Given the description of an element on the screen output the (x, y) to click on. 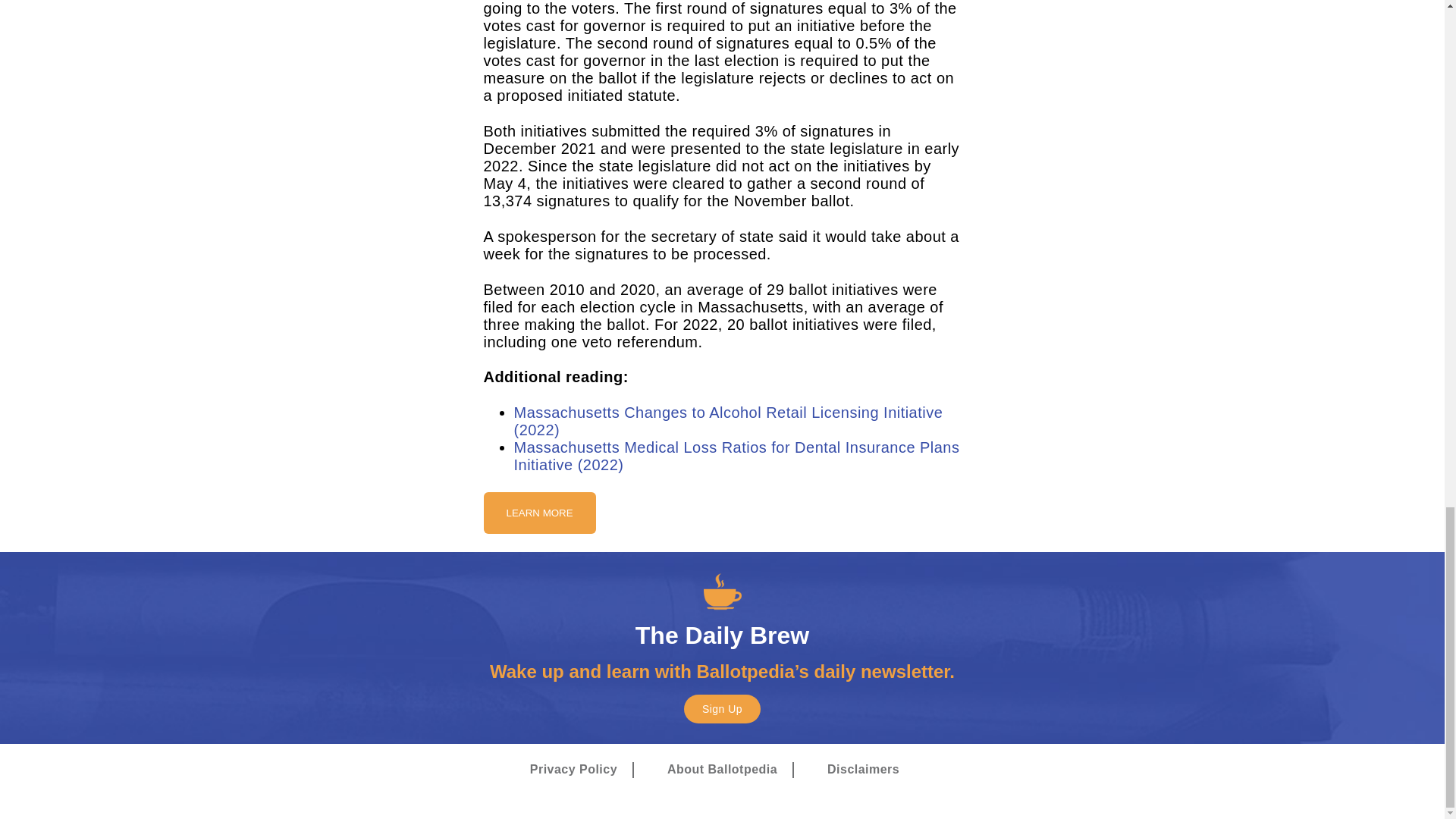
About Ballotpedia (721, 770)
LEARN MORE (539, 512)
Sign Up (722, 708)
Privacy Policy (573, 770)
Disclaimers (863, 770)
LEARN MORE (539, 512)
